Given the description of an element on the screen output the (x, y) to click on. 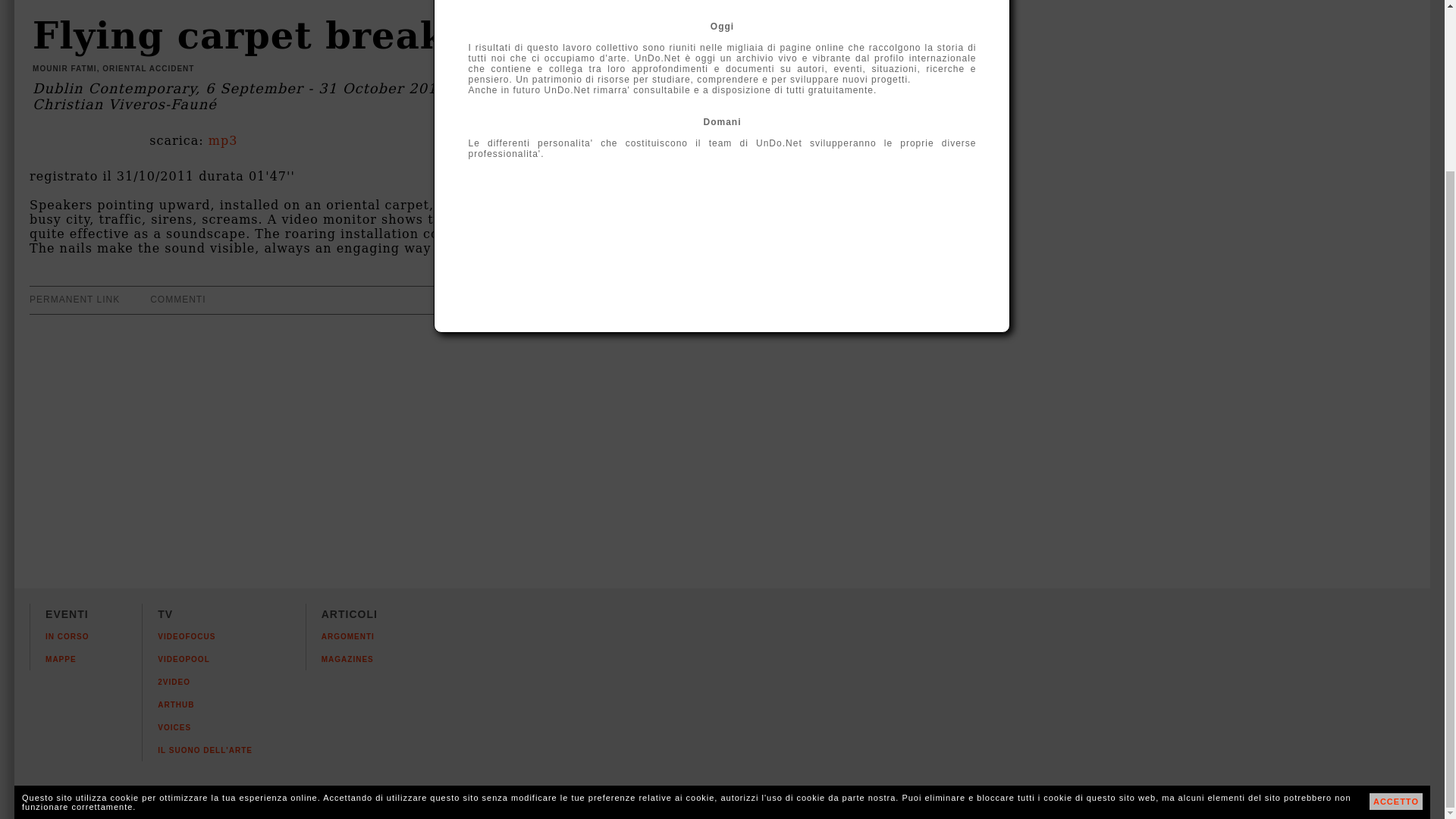
Flip 1994-2012 R.I.P. (1422, 808)
2VIDEO (173, 682)
IL SUONO DELL'ARTE (204, 750)
IN CORSO (66, 636)
ARGOMENTI (347, 636)
VIDEOFOCUS (186, 636)
PERMANENT LINK (74, 298)
VIDEOPOOL (183, 659)
MAPPE (61, 659)
mp3 (223, 140)
ARTHUB (175, 705)
COMMENTI (177, 298)
VOICES (173, 727)
MAGAZINES (347, 659)
ACCETTO (1396, 596)
